Given the description of an element on the screen output the (x, y) to click on. 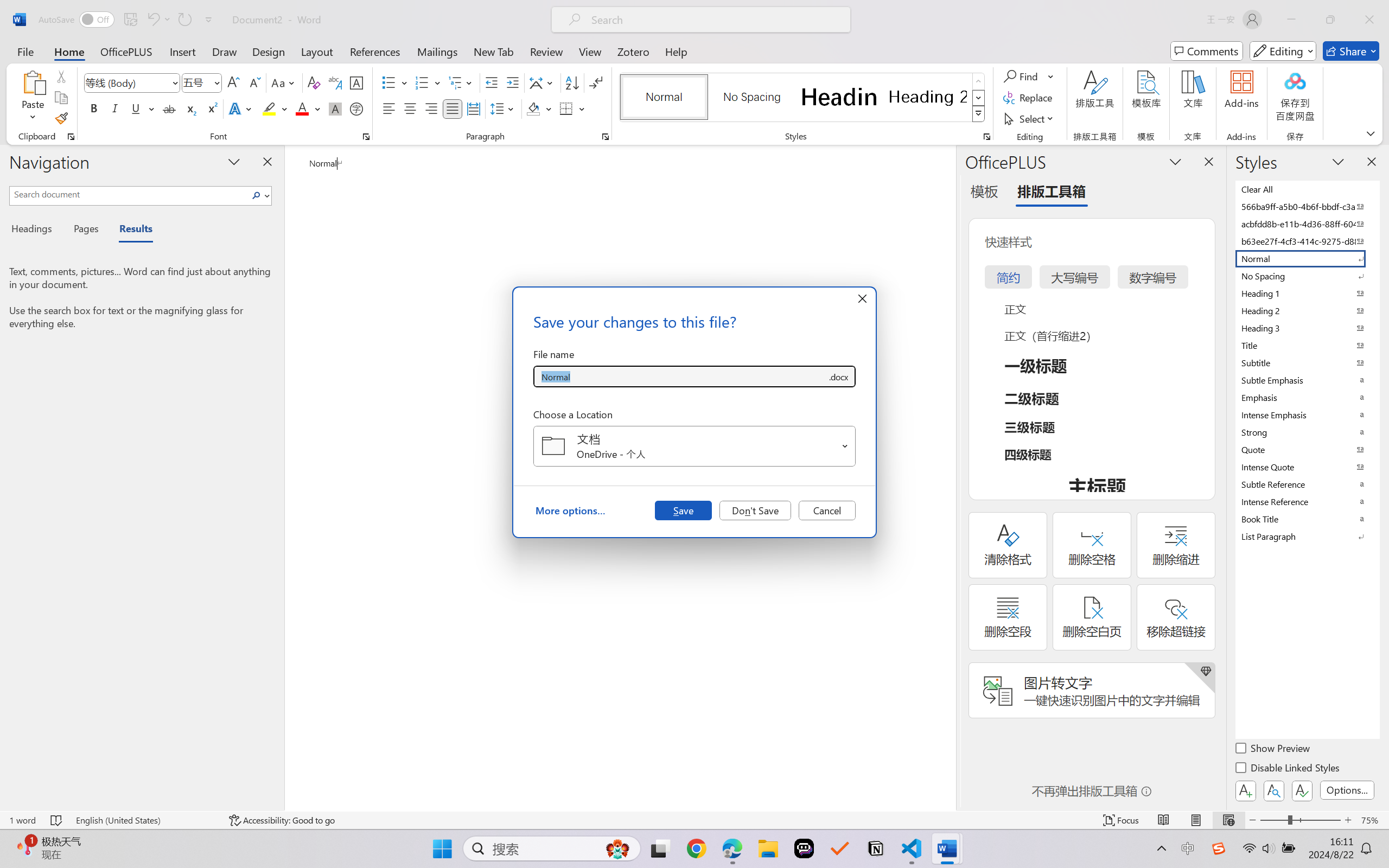
No Spacing (1306, 275)
Font Color (308, 108)
Subscript (190, 108)
Row Down (978, 97)
Search (259, 195)
Open (844, 446)
References (375, 51)
Heading 2 (927, 96)
Center (409, 108)
Mode (1283, 50)
